Given the description of an element on the screen output the (x, y) to click on. 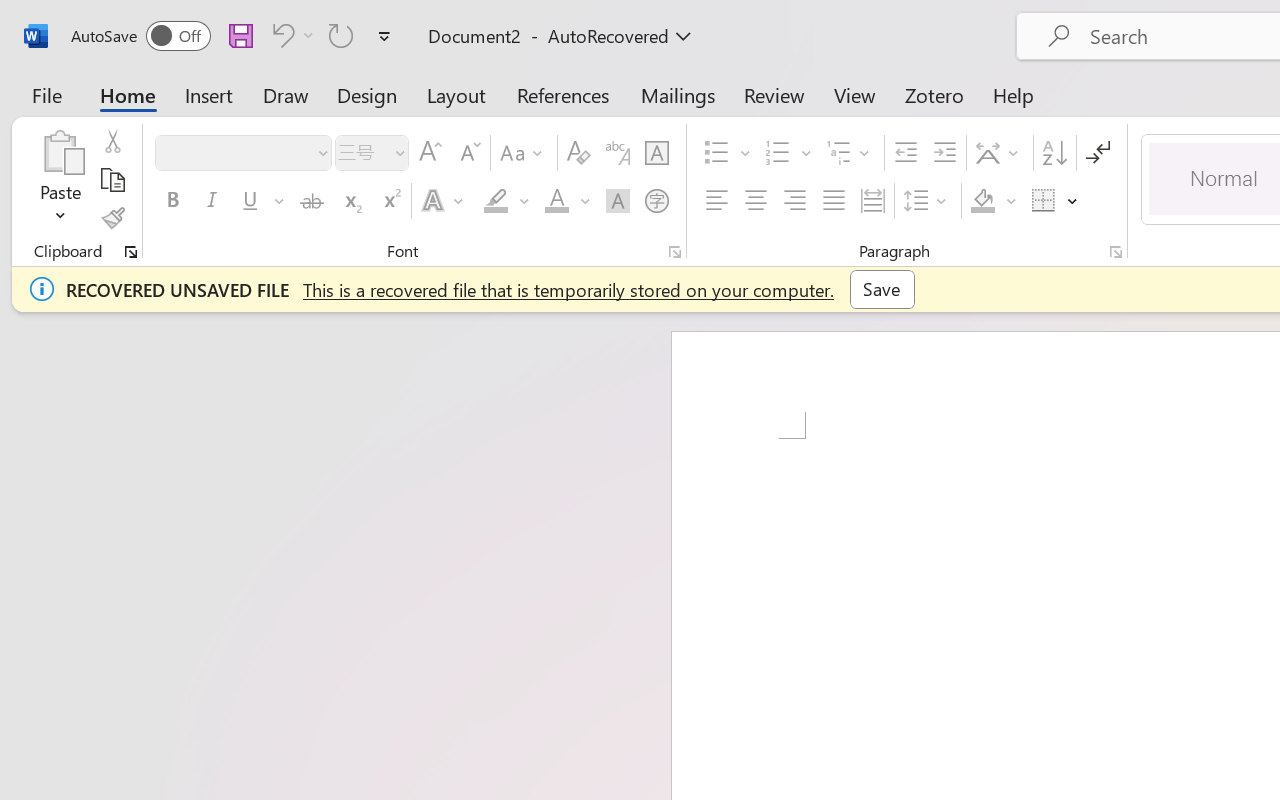
Subscript (350, 201)
Change Case (524, 153)
Line and Paragraph Spacing (927, 201)
Shrink Font (468, 153)
Font Color RGB(255, 0, 0) (556, 201)
Office Clipboard... (131, 252)
Superscript (390, 201)
Strikethrough (312, 201)
Asian Layout (1000, 153)
Help (1013, 94)
Italic (212, 201)
Shading RGB(0, 0, 0) (982, 201)
